Given the description of an element on the screen output the (x, y) to click on. 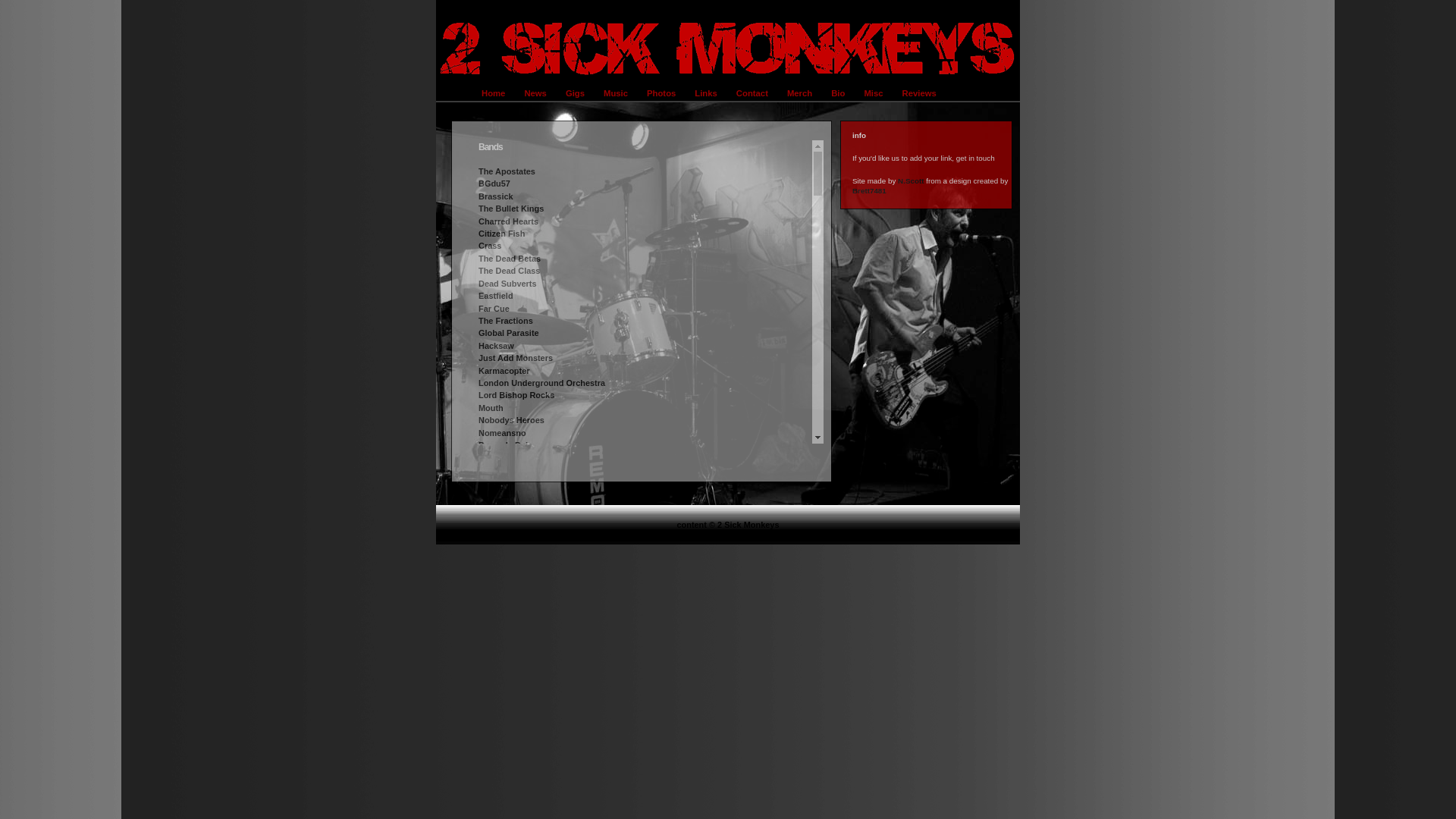
Just Add Monsters Element type: text (515, 357)
Citizen Fish Element type: text (501, 233)
Brown Bag Propaganda Element type: text (525, 716)
Karmacopter Element type: text (503, 370)
Mouth Element type: text (490, 407)
Power Is Poison Element type: text (510, 444)
Eastfield Element type: text (495, 295)
The Something Somethings Element type: text (533, 569)
Brassick Element type: text (495, 195)
The Fractions Element type: text (505, 320)
Far Cue Element type: text (493, 308)
Rudimentary Peni Element type: text (513, 519)
Rabies Babies Element type: text (506, 456)
Angry Scene Records Element type: text (521, 704)
News Element type: text (537, 92)
Home Element type: text (494, 92)
Merch Element type: text (801, 92)
Misc Element type: text (875, 92)
Manic Pogo Element type: text (501, 766)
Spit On You Element type: text (501, 581)
Subhumans Element type: text (502, 594)
Dead Subverts Element type: text (507, 283)
Links Element type: text (707, 92)
Reviews Element type: text (920, 92)
Veer Luth Element type: text (497, 631)
London Underground Orchestra Element type: text (541, 382)
Gigs Element type: text (577, 92)
Septic Psychos Element type: text (508, 544)
Contact Element type: text (753, 92)
Righteous Anger Records Element type: text (529, 803)
BGdu57 Element type: text (494, 183)
Nomeansno Element type: text (502, 432)
Second In Line Element type: text (507, 531)
N.Scott Element type: text (910, 180)
The Surgeons Element type: text (505, 606)
Crass Element type: text (489, 245)
The Bullet Kings Element type: text (510, 208)
Nobodys Heroes Element type: text (511, 419)
The Restarts Element type: text (503, 481)
Zinc Bukowski Element type: text (507, 656)
Pickled Pooh Records/Distro Element type: text (535, 778)
Liquid Library Element type: text (505, 753)
Calcaza Records Element type: text (511, 729)
Revenge Of The Psychotronic Man Element type: text (546, 494)
The Apostates Element type: text (506, 170)
Brett7481 Element type: text (869, 190)
Pumpkin Records Element type: text (513, 791)
Global Parasite Element type: text (508, 332)
Smash It Up Element type: text (502, 556)
Lord Bishop Rocks Element type: text (516, 394)
Rockit Dolls Element type: text (502, 506)
The Dead Class Element type: text (508, 270)
DeadLamb Records Element type: text (517, 741)
Charred Hearts Element type: text (508, 220)
Hacksaw Element type: text (496, 345)
Photos Element type: text (663, 92)
Valdez Element type: text (491, 619)
Rash Decision Element type: text (506, 469)
Wonk Unit Element type: text (498, 643)
Music Element type: text (617, 92)
Bio Element type: text (839, 92)
The Dead Betas Element type: text (509, 258)
